Given the description of an element on the screen output the (x, y) to click on. 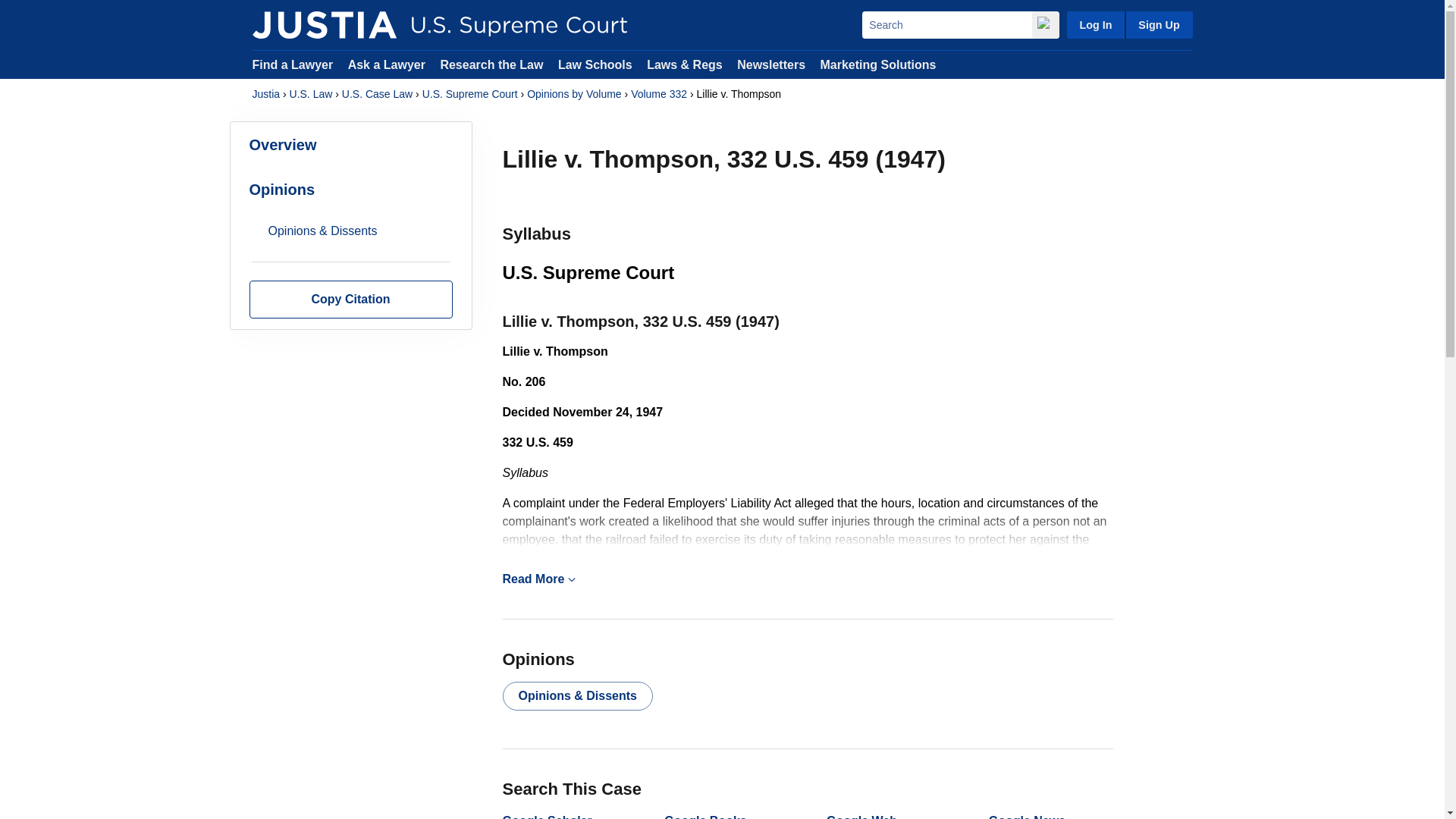
Find a Lawyer (292, 64)
Opinions by Volume (574, 93)
Law - Google Books (704, 816)
Sign Up (1158, 24)
Law - Google News (1026, 816)
Justia (265, 93)
Mobile Navigation (571, 579)
Search (945, 24)
Law Schools (594, 64)
Read More (807, 579)
